Given the description of an element on the screen output the (x, y) to click on. 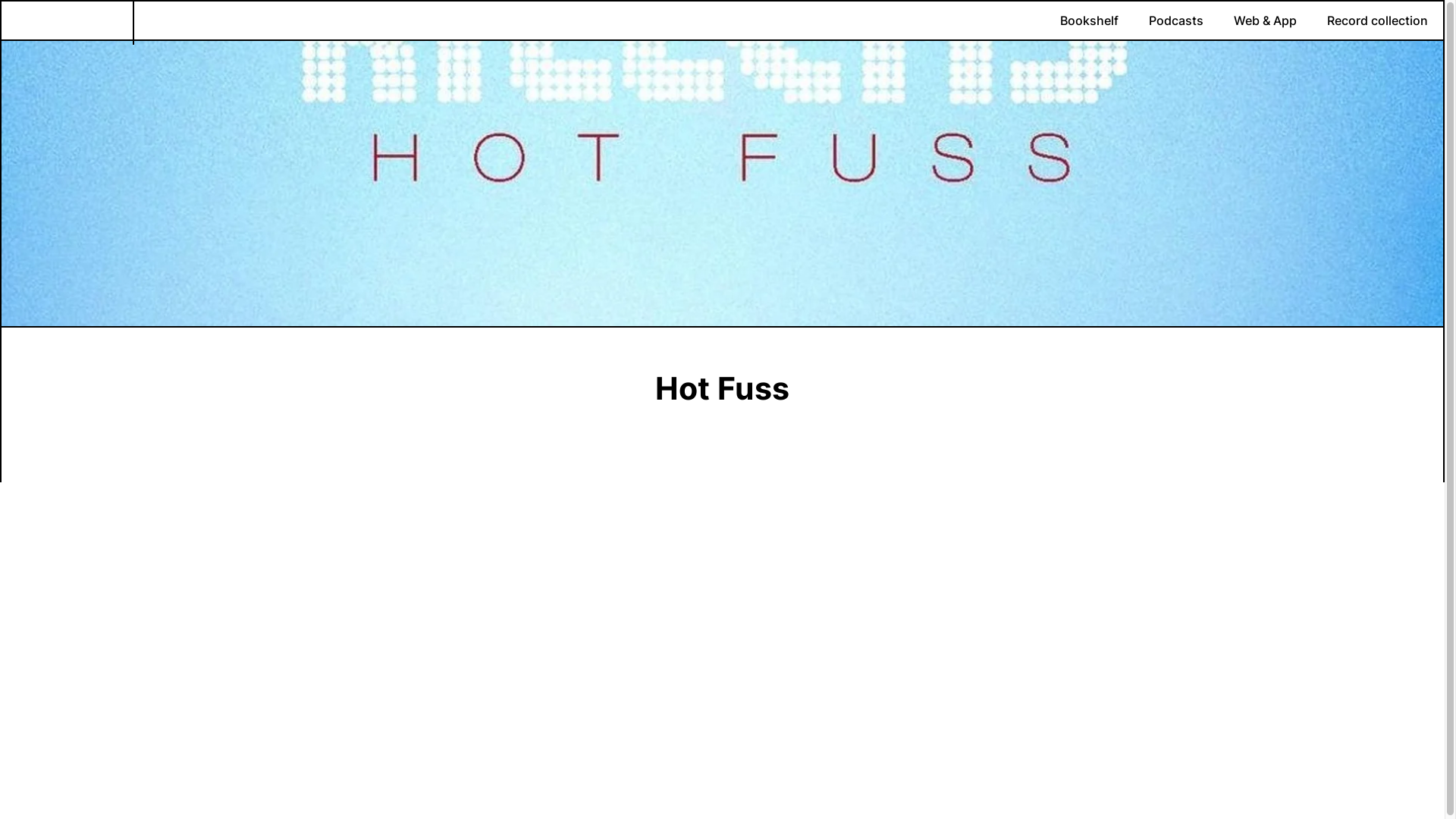
Record collection Element type: text (1377, 20)
Bookshelf Element type: text (1088, 20)
Web & App Element type: text (1264, 20)
Podcasts Element type: text (1175, 20)
